Given the description of an element on the screen output the (x, y) to click on. 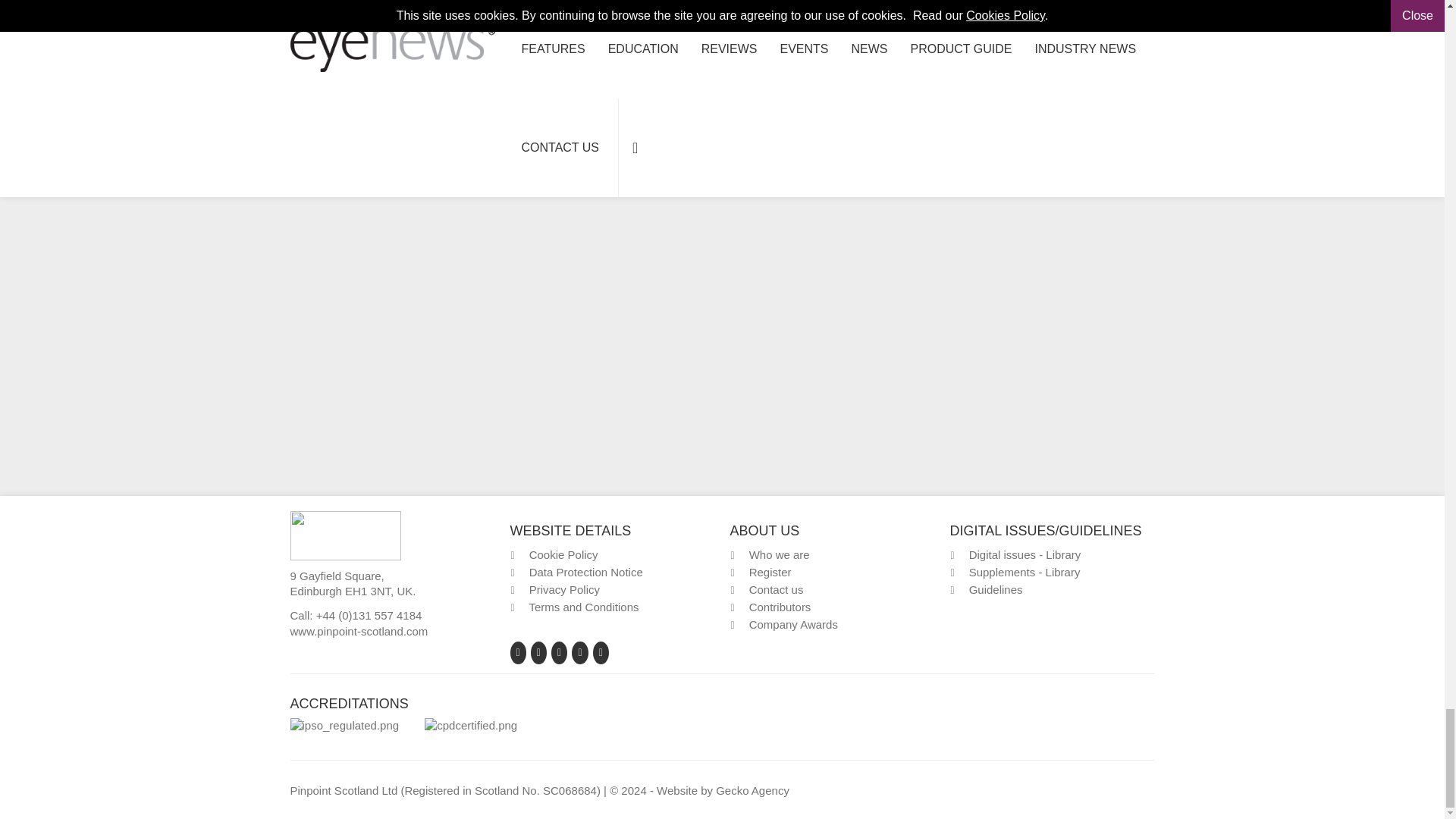
Website by Gecko Agency (752, 789)
